Given the description of an element on the screen output the (x, y) to click on. 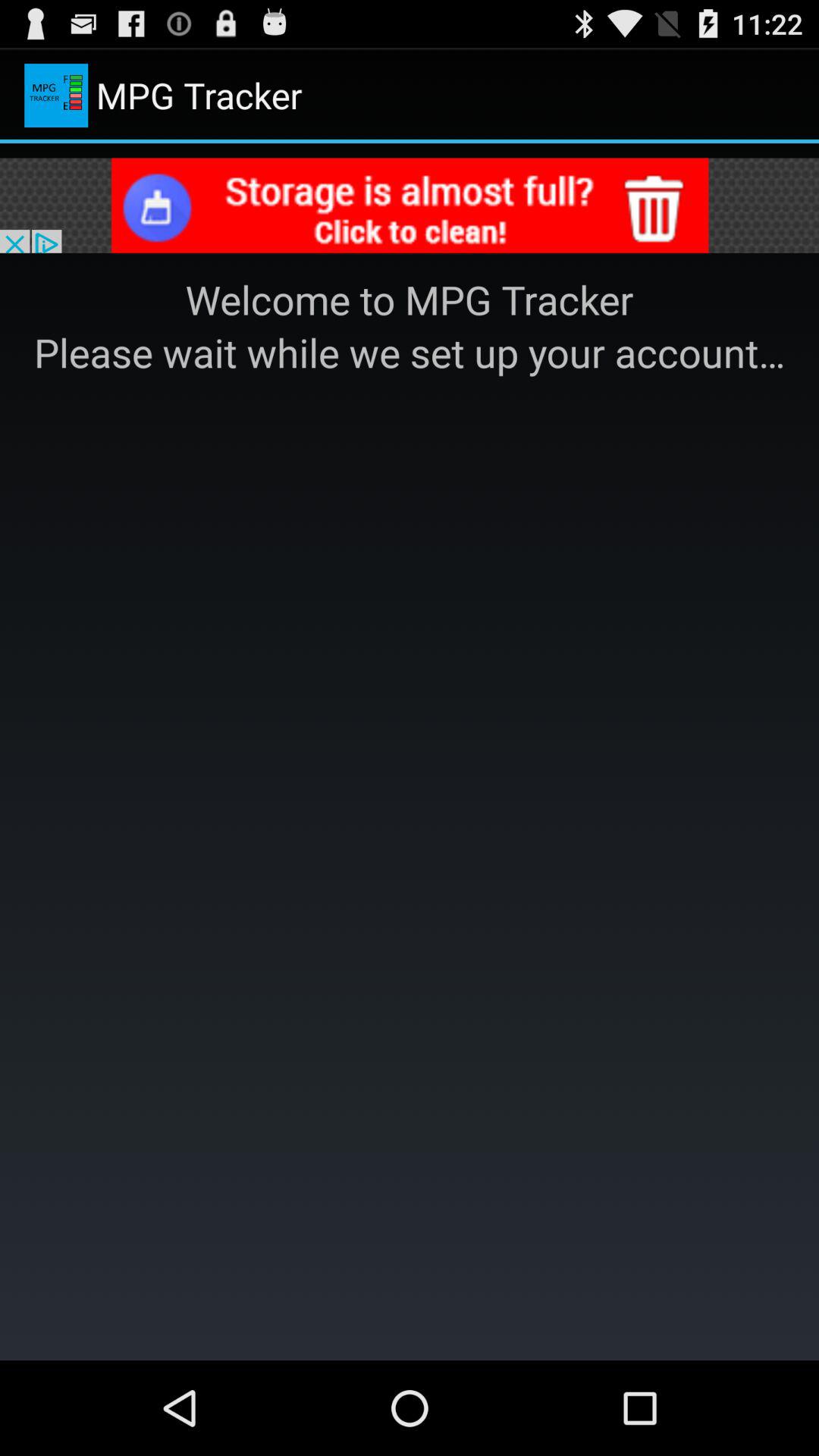
selected advertisement (409, 207)
